Given the description of an element on the screen output the (x, y) to click on. 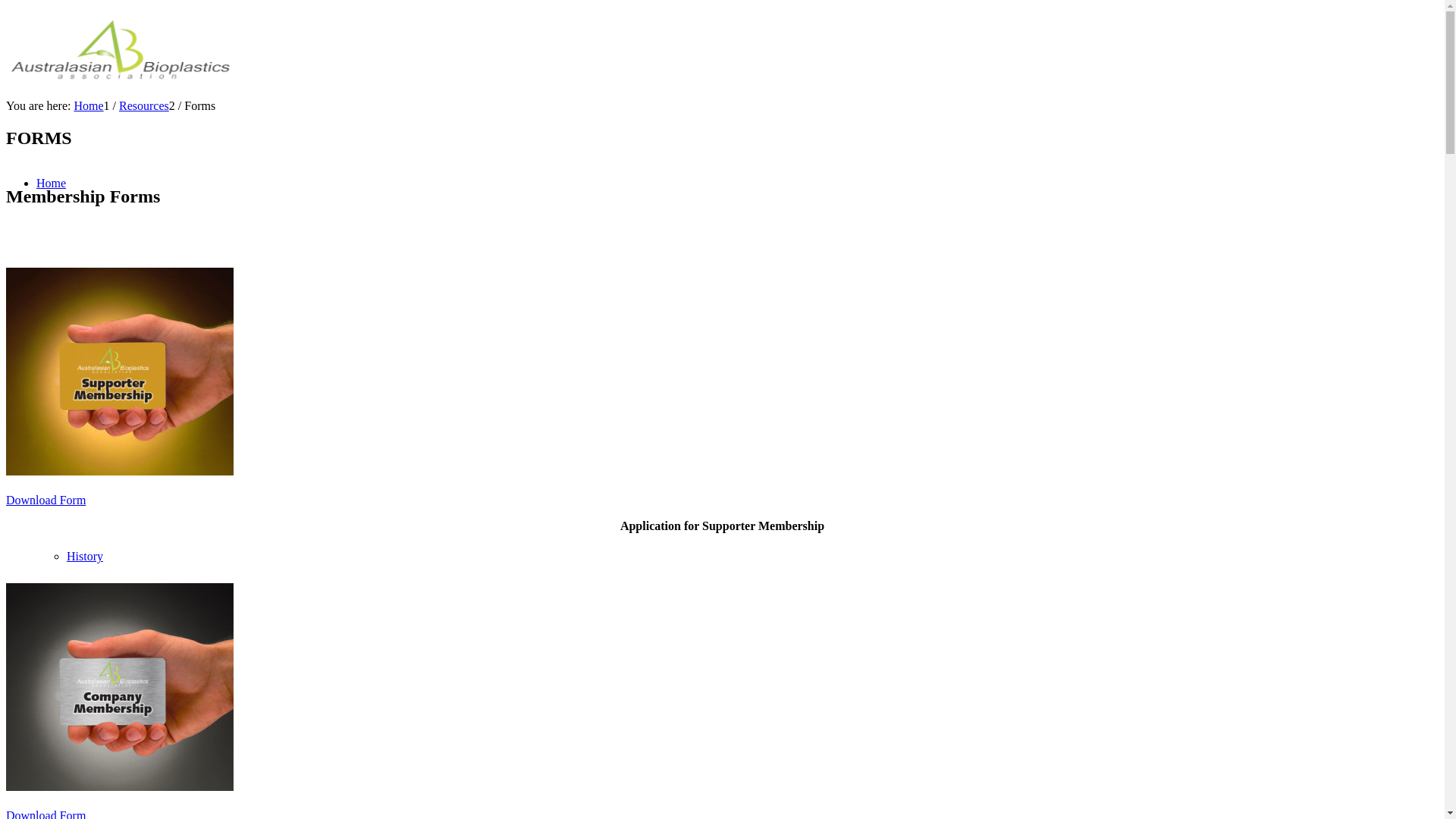
Bioplastics explained Element type: text (118, 742)
Download Form Element type: text (45, 499)
Home Element type: text (88, 105)
silver Element type: hover (119, 686)
Bioplastics Element type: text (63, 649)
Resources Element type: text (144, 105)
Home Element type: text (50, 182)
About Element type: text (51, 275)
Sustainability Element type: text (99, 462)
Our People Element type: text (93, 369)
gold-member Element type: hover (119, 371)
History Element type: text (84, 555)
